Given the description of an element on the screen output the (x, y) to click on. 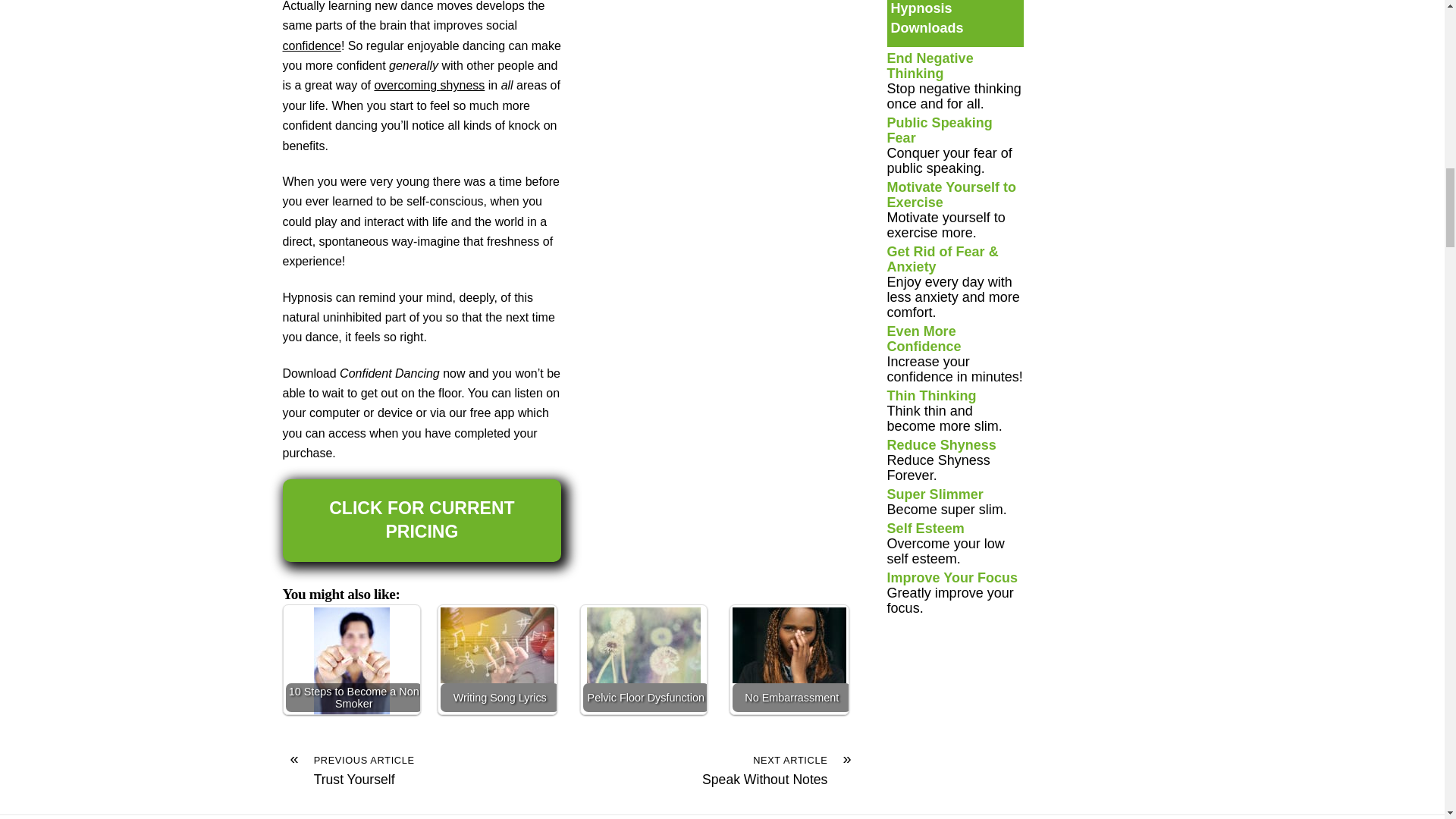
Pelvic Floor Dysfunction (643, 645)
No Embarrassment (788, 645)
Writing Song Lyrics (497, 645)
